Given the description of an element on the screen output the (x, y) to click on. 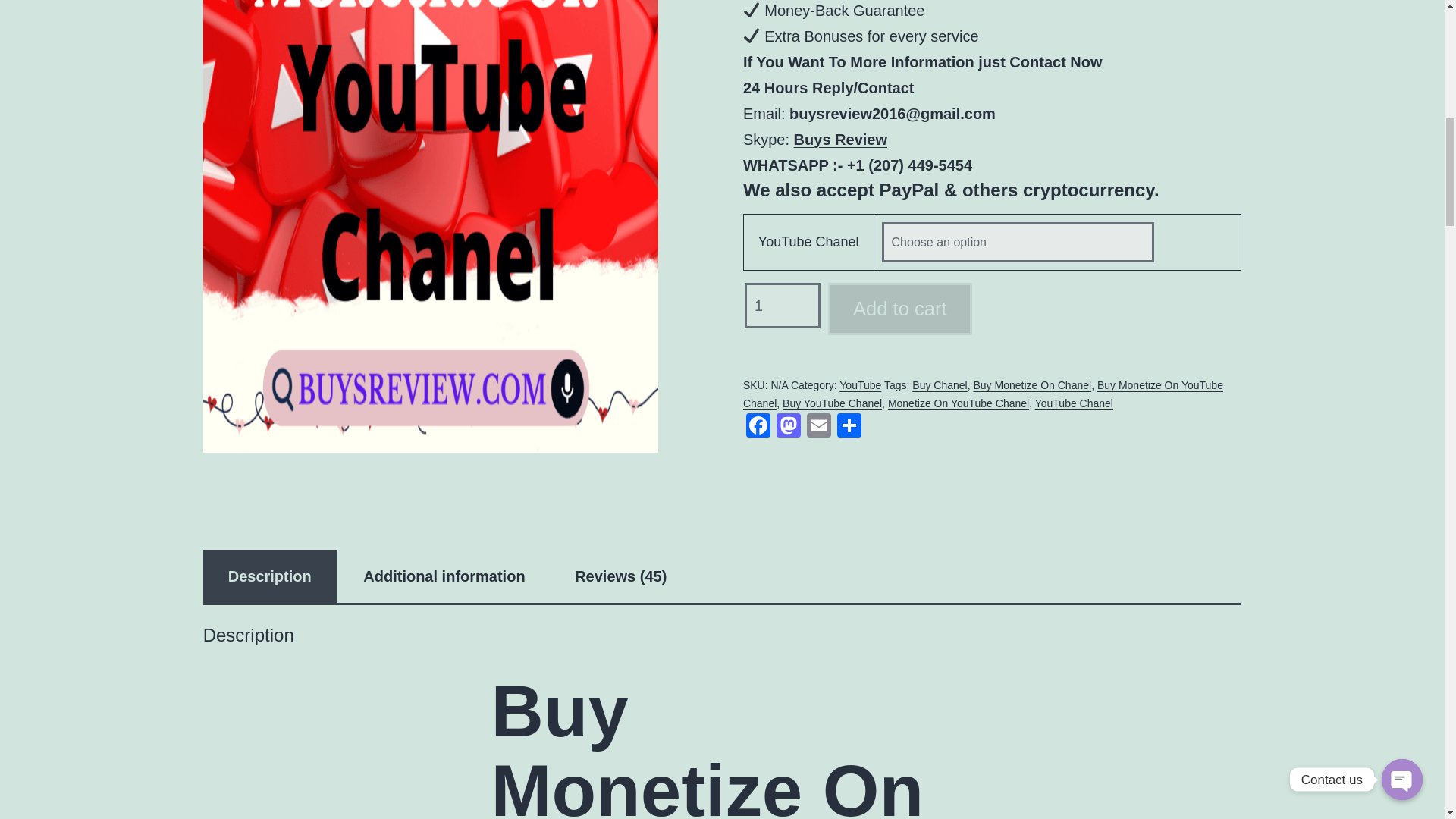
YouTube Chanel (1074, 403)
Buy Chanel (939, 385)
Buy Monetize On YouTube Chanel (982, 394)
Email (818, 425)
Facebook (757, 425)
Monetize On YouTube Chanel (958, 403)
Additional information (443, 576)
Buy Monetize On Chanel (1031, 385)
1 (782, 305)
